Given the description of an element on the screen output the (x, y) to click on. 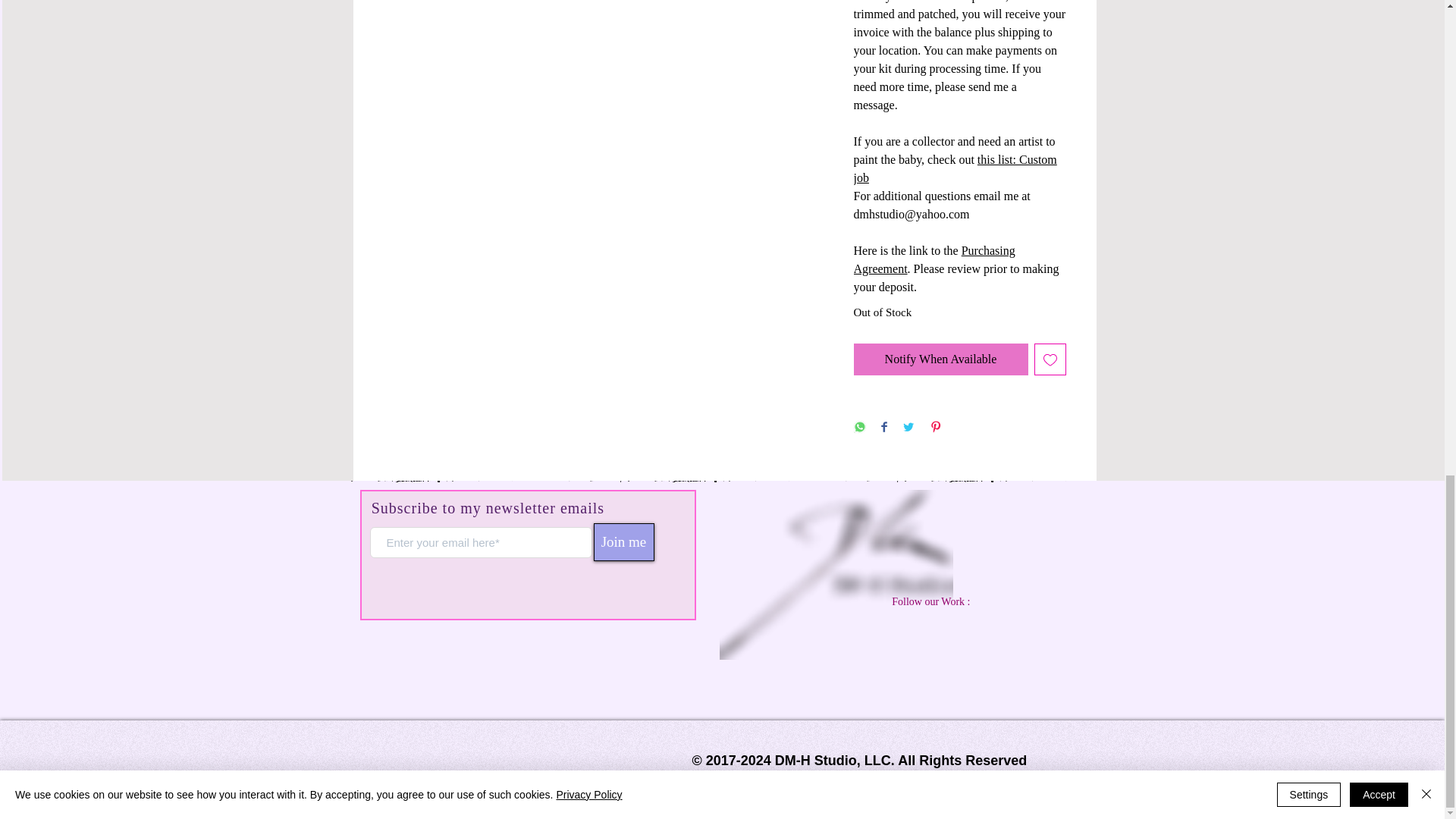
Logo NO Bkgd - DMH Studio seal.png (835, 574)
this list: Custom job (955, 168)
Notify When Available (940, 359)
Purchasing Agreement (933, 259)
